Given the description of an element on the screen output the (x, y) to click on. 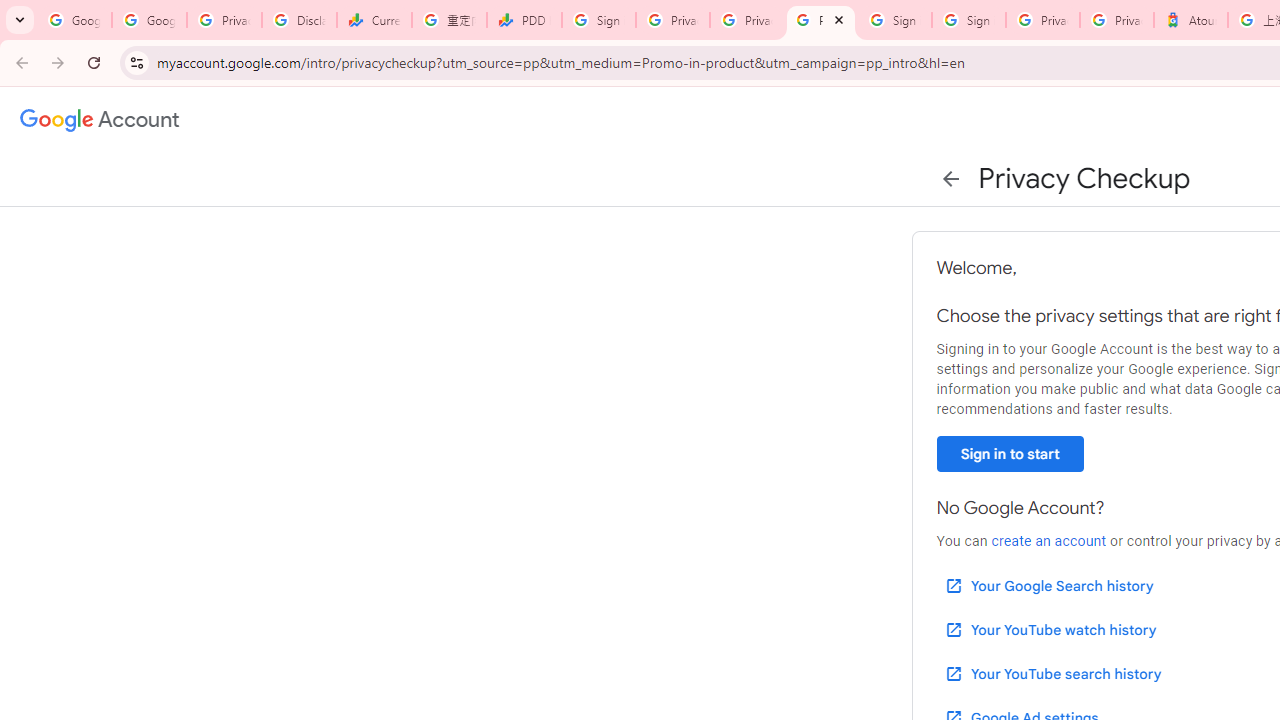
Your YouTube watch history (1049, 630)
create an account (1048, 541)
Currencies - Google Finance (374, 20)
Google Account settings (100, 120)
Privacy Checkup (820, 20)
Sign in - Google Accounts (894, 20)
